Given the description of an element on the screen output the (x, y) to click on. 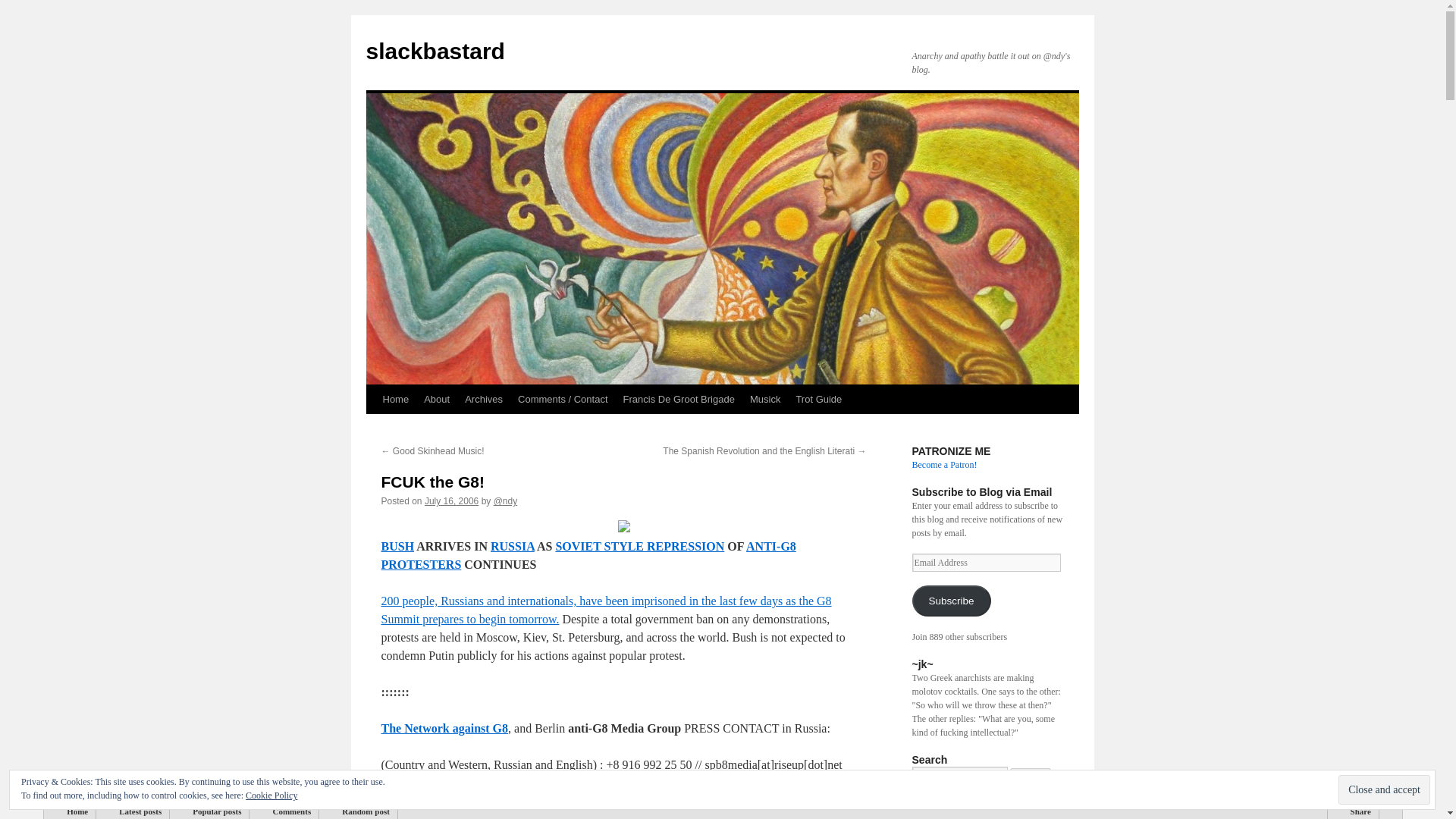
ANTI-G8 PROTESTERS (587, 554)
anti-G8 media group (495, 800)
Francis De Groot Brigade (678, 399)
slackbastard (434, 50)
SOVIET STYLE REPRESSION (638, 545)
Home (395, 399)
BUSH (396, 545)
3:31 am (452, 501)
Archives (484, 399)
